Given the description of an element on the screen output the (x, y) to click on. 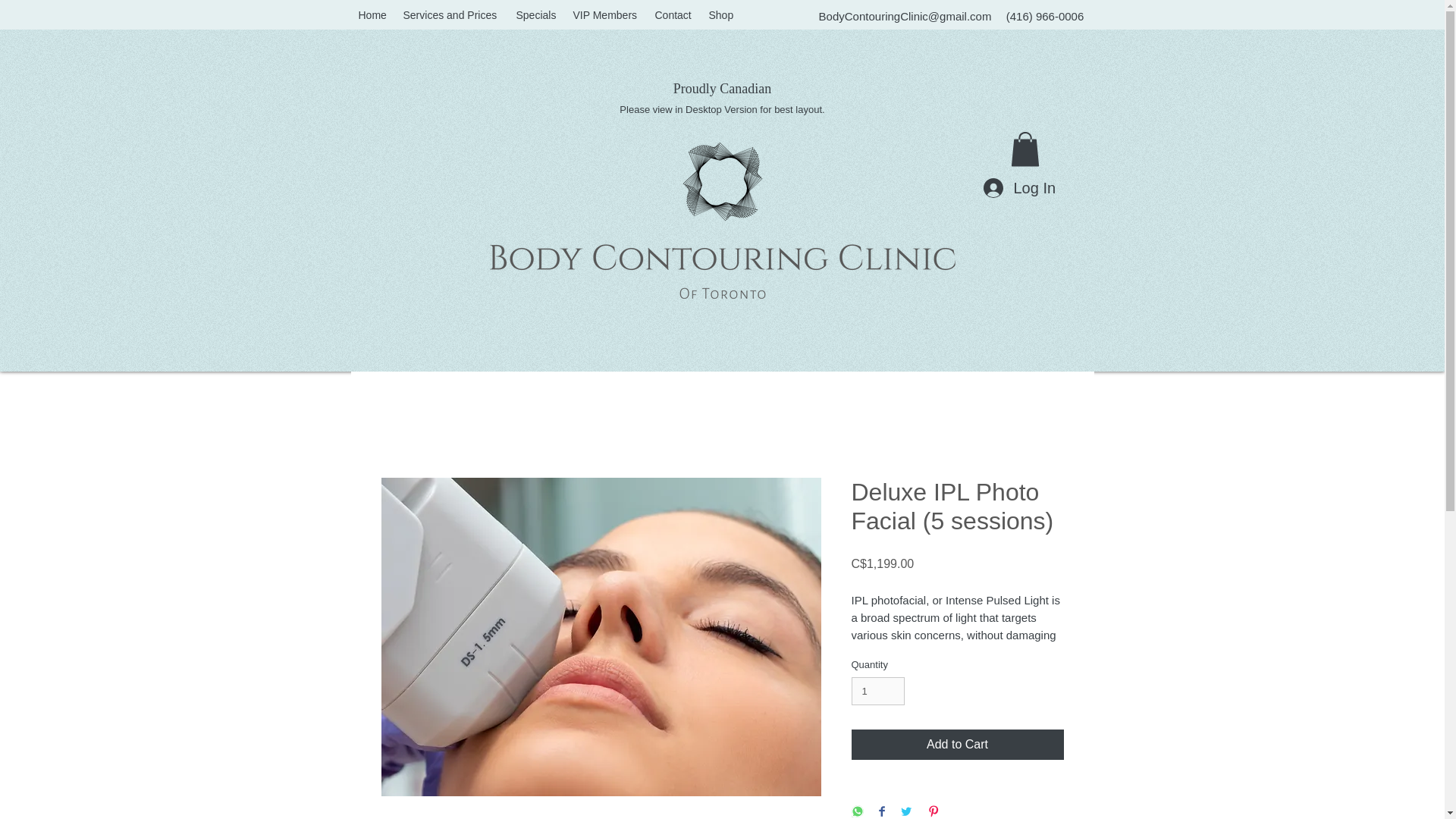
Services and Prices (452, 15)
Home (372, 15)
Specials (536, 15)
Add to Cart (956, 744)
Shop (720, 15)
Contact (674, 15)
VIP Members (606, 15)
1 (877, 691)
Proudly Canadian (721, 88)
Log In (1017, 187)
